Given the description of an element on the screen output the (x, y) to click on. 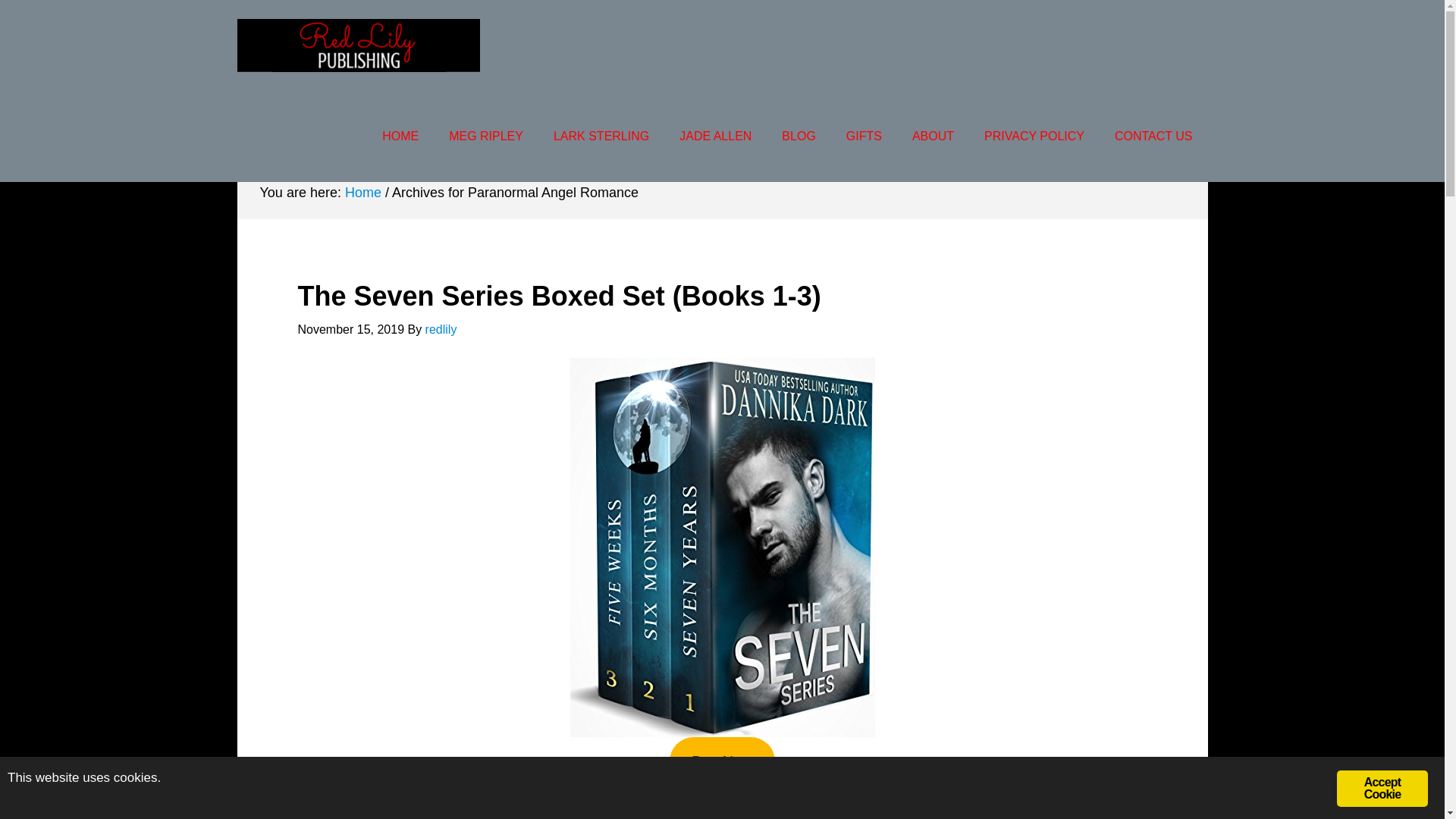
MEG RIPLEY (485, 135)
Home (363, 192)
Buy Now (721, 761)
PARANORMAL ROMANCE (551, 128)
CONTACT US (1153, 135)
CONTEMPORARY ROMANCE (343, 128)
redlily (441, 328)
PRIVACY POLICY (1034, 135)
Red Lily Publishing (357, 45)
LARK STERLING (600, 135)
JADE ALLEN (715, 135)
ALL BOOKS (1150, 128)
